Given the description of an element on the screen output the (x, y) to click on. 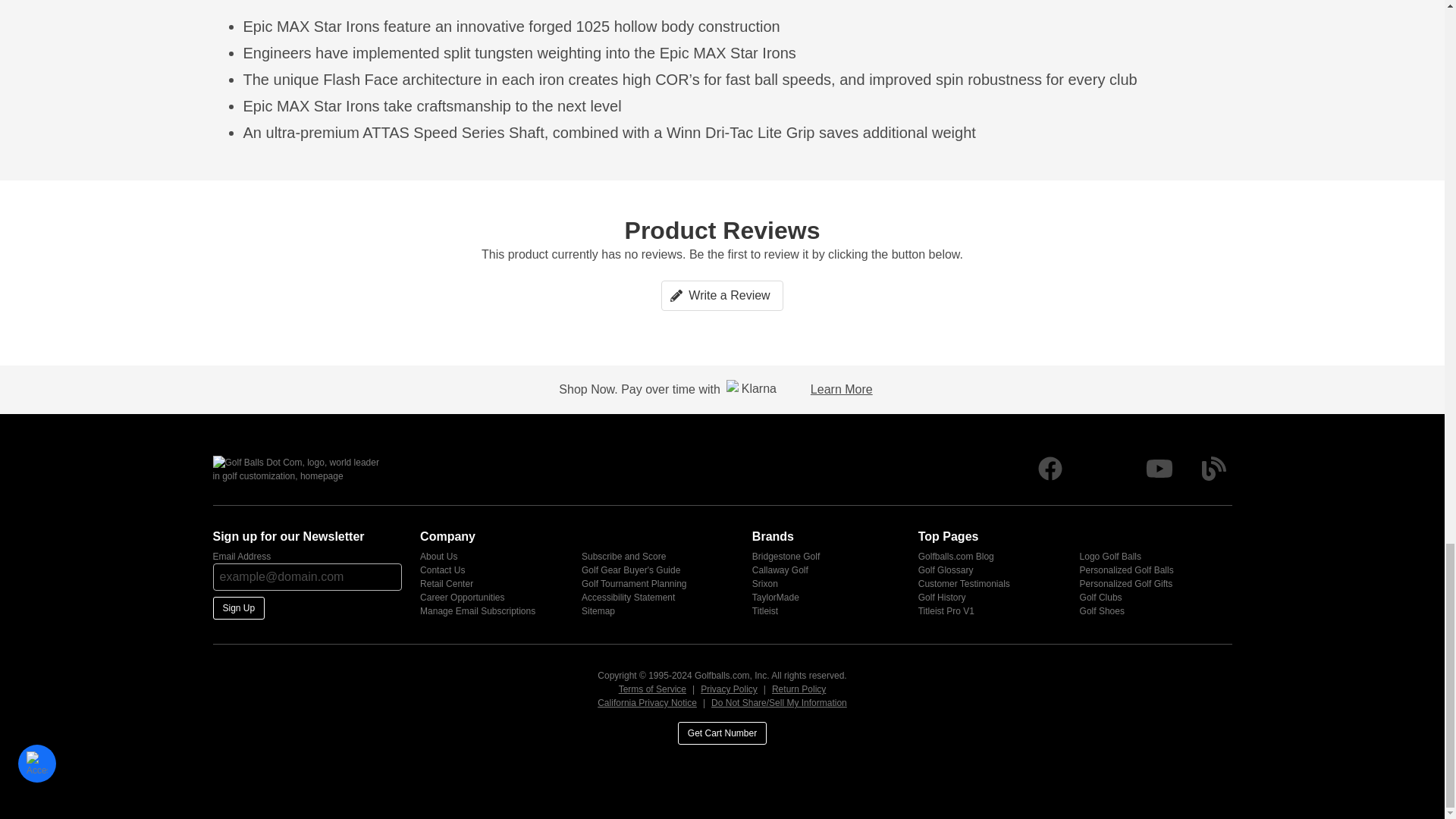
Product Reviews (721, 277)
Learn More (841, 389)
Write a Review (722, 295)
